Given the description of an element on the screen output the (x, y) to click on. 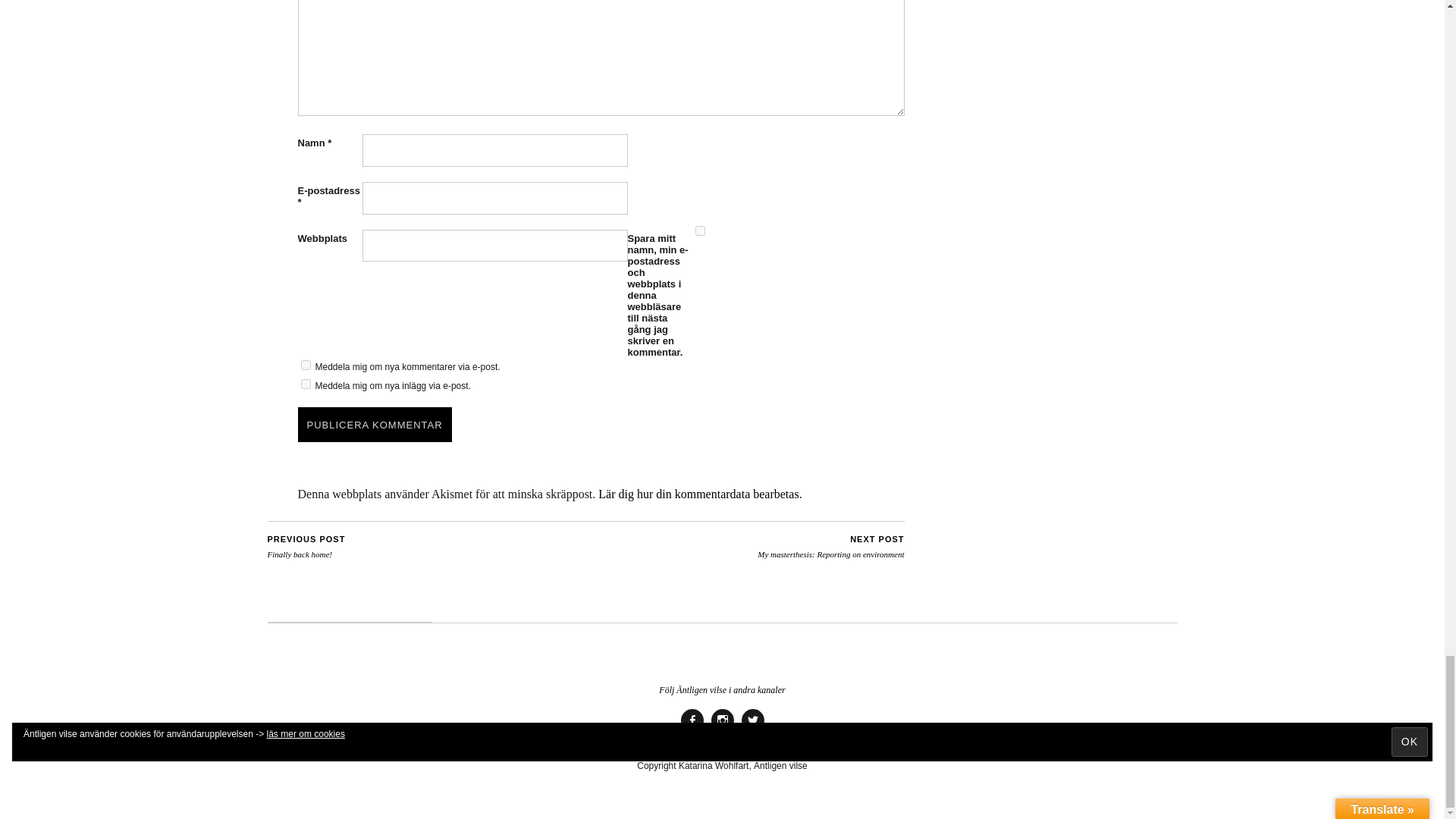
subscribe (304, 384)
Publicera kommentar (374, 424)
subscribe (304, 365)
yes (699, 230)
